Given the description of an element on the screen output the (x, y) to click on. 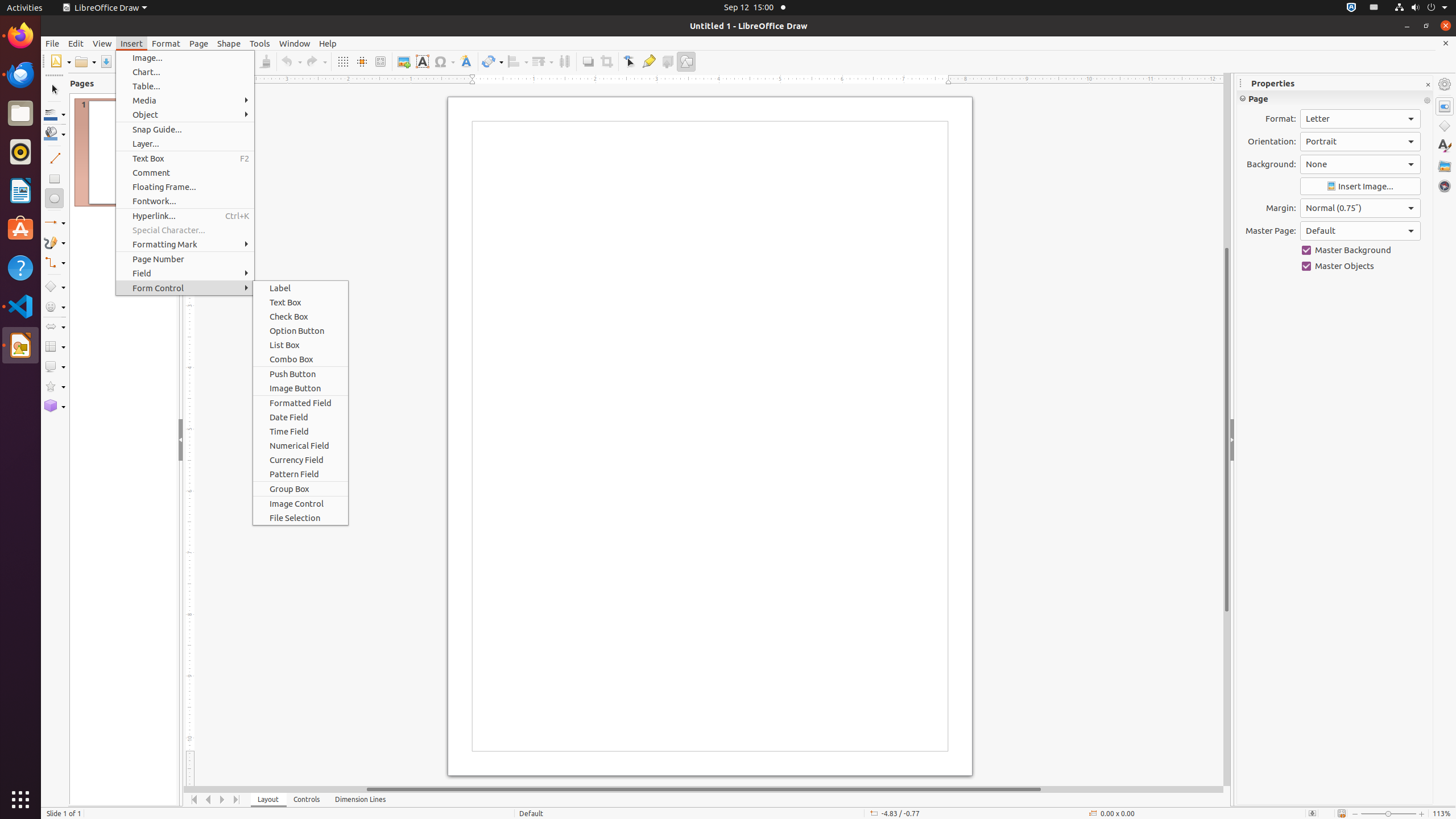
Text Box Element type: menu-item (185, 158)
Files Element type: push-button (20, 113)
Chart... Element type: menu-item (185, 71)
Option Button Element type: check-menu-item (300, 330)
Open Element type: push-button (84, 61)
